Given the description of an element on the screen output the (x, y) to click on. 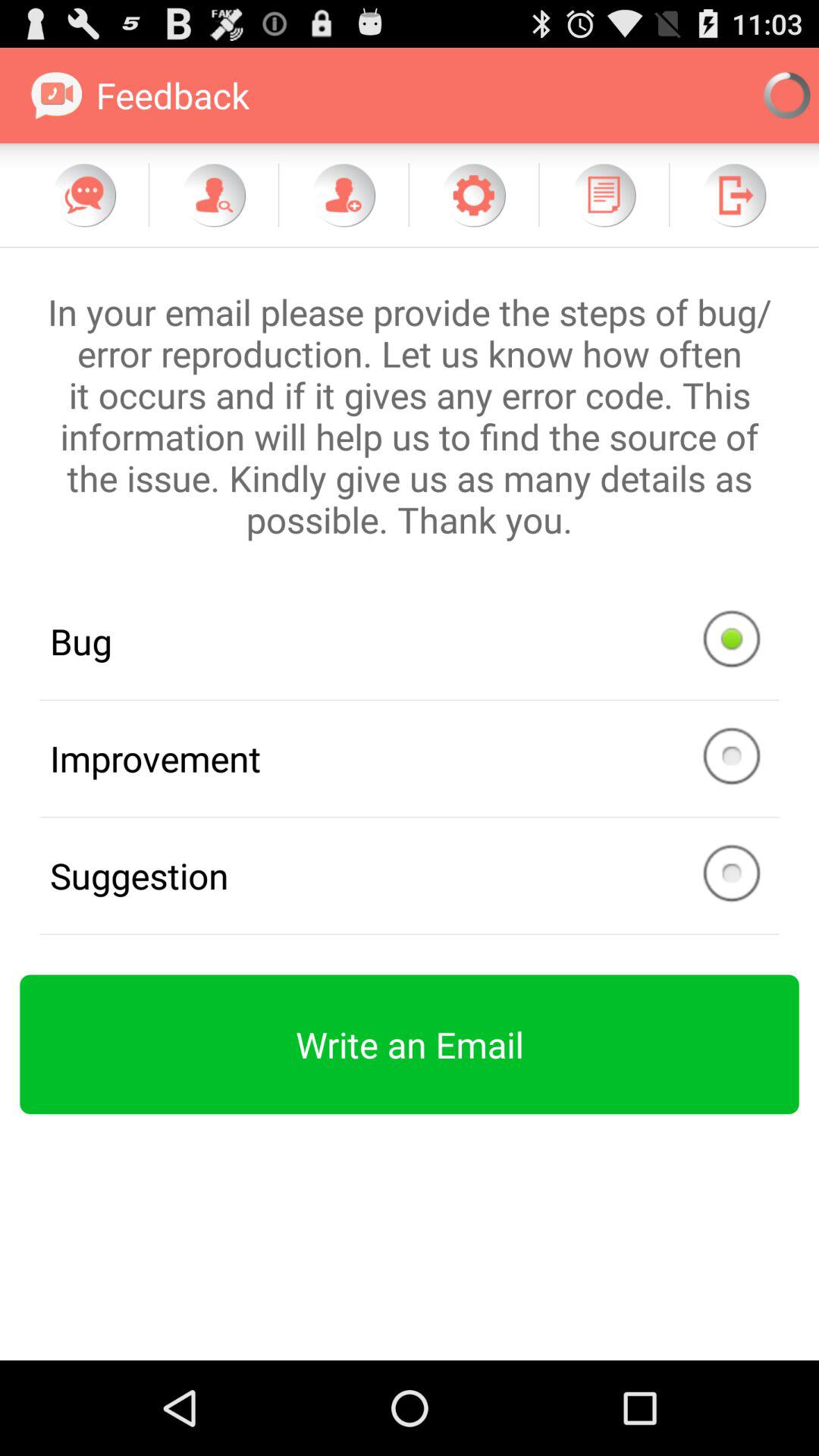
launch suggestion (409, 875)
